Given the description of an element on the screen output the (x, y) to click on. 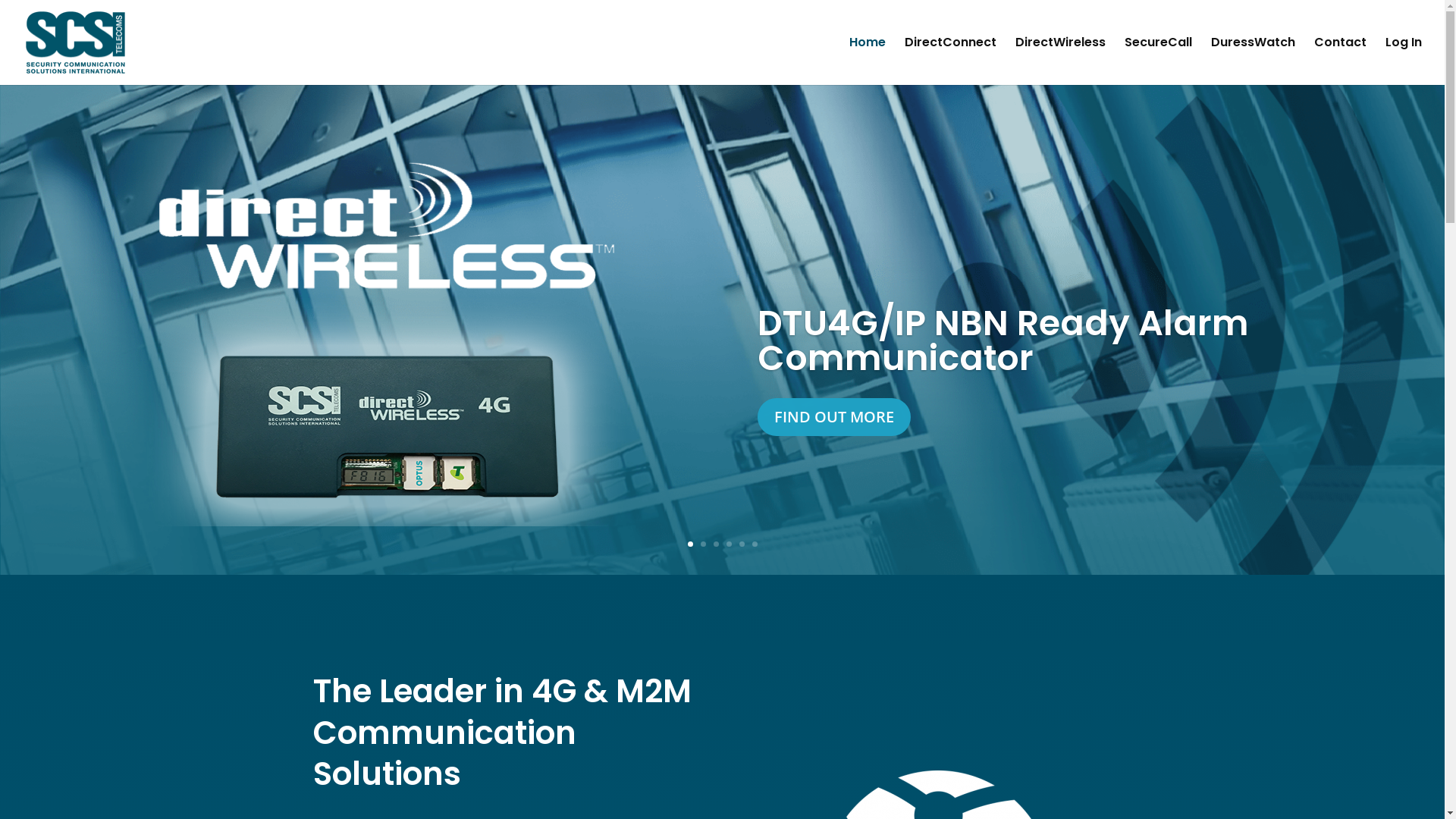
5 Element type: text (740, 543)
4 Element type: text (728, 543)
FIND OUT MORE Element type: text (833, 417)
3 Element type: text (715, 543)
1 Element type: text (689, 543)
DuressWatch Element type: text (1253, 60)
DirectWireless Element type: text (1060, 60)
DTU4G/IP NBN Ready Alarm Communicator Element type: text (1002, 340)
Contact Element type: text (1340, 60)
6 Element type: text (754, 543)
2 Element type: text (703, 543)
Log In Element type: text (1403, 60)
Home Element type: text (867, 60)
SecureCall Element type: text (1158, 60)
DirectConnect Element type: text (950, 60)
